Given the description of an element on the screen output the (x, y) to click on. 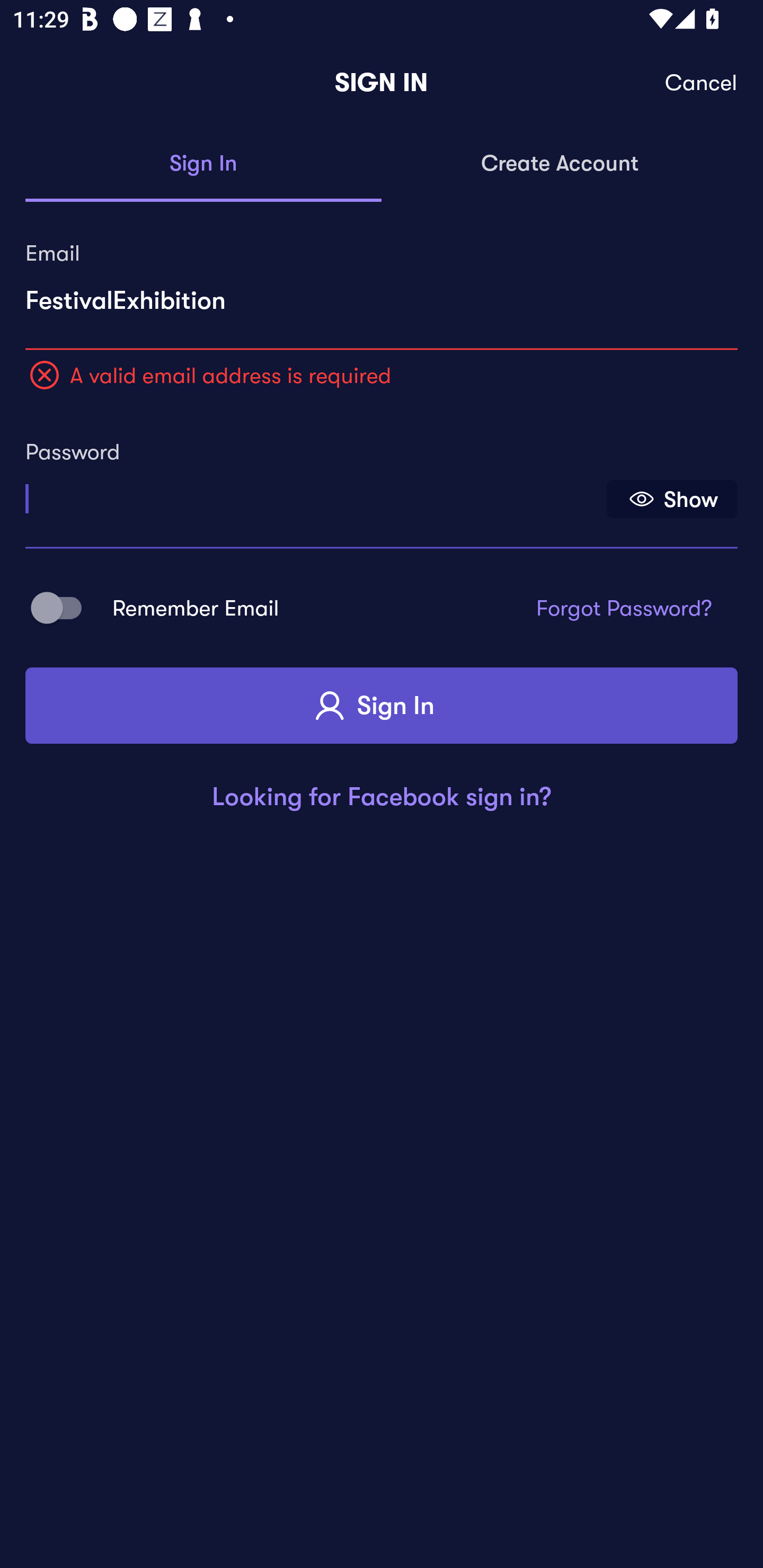
Cancel (701, 82)
Sign In (203, 164)
Create Account (559, 164)
Password (314, 493)
Show Password Show (671, 498)
Remember Email (62, 607)
Sign In (381, 705)
